Given the description of an element on the screen output the (x, y) to click on. 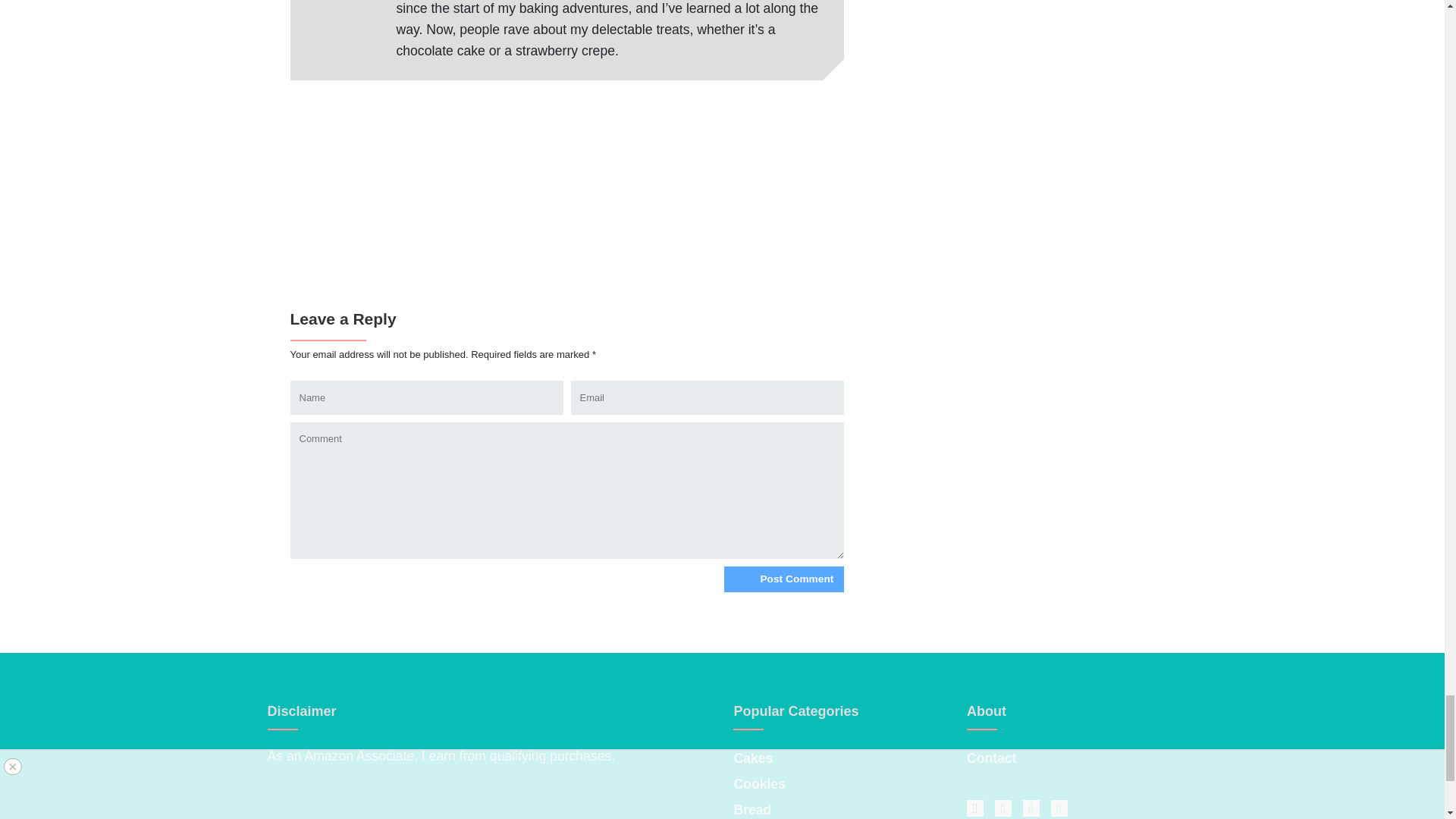
Post Comment (783, 579)
